Given the description of an element on the screen output the (x, y) to click on. 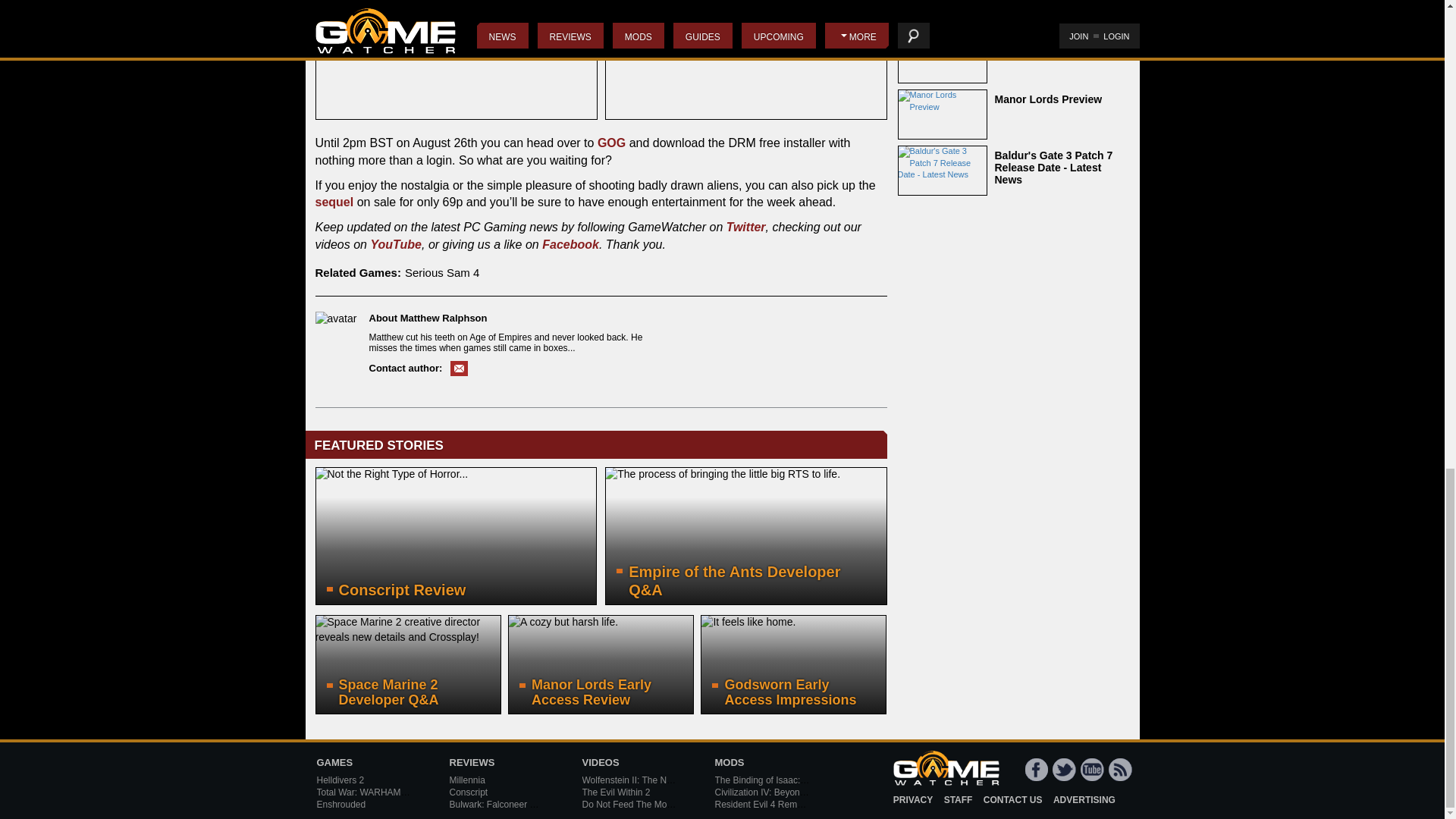
GOG (611, 142)
sequel (334, 201)
Twitter (745, 226)
